Given the description of an element on the screen output the (x, y) to click on. 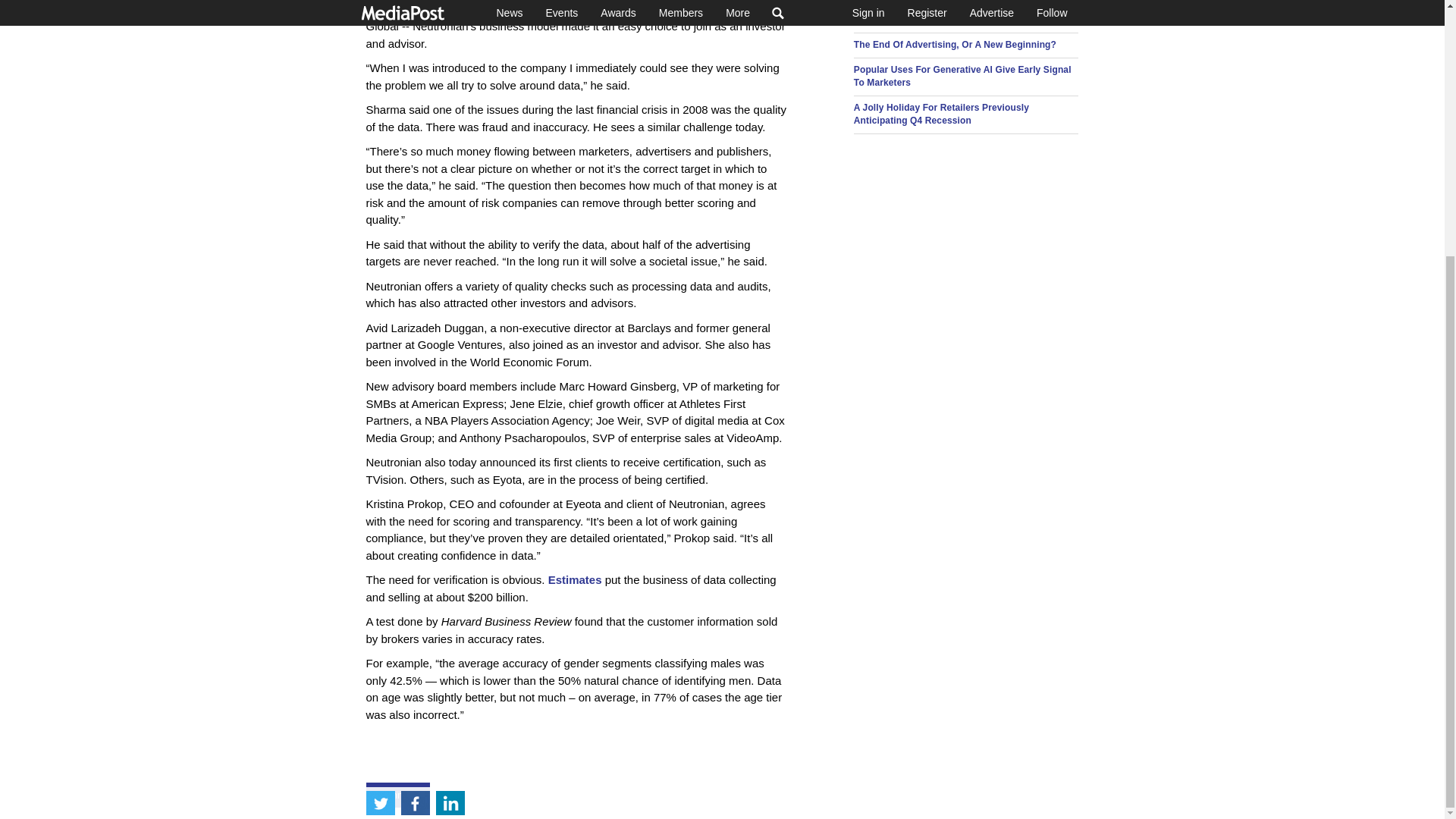
Share on Twitter (379, 438)
Share on LinkedIn (449, 438)
Share on Facebook (414, 438)
